Given the description of an element on the screen output the (x, y) to click on. 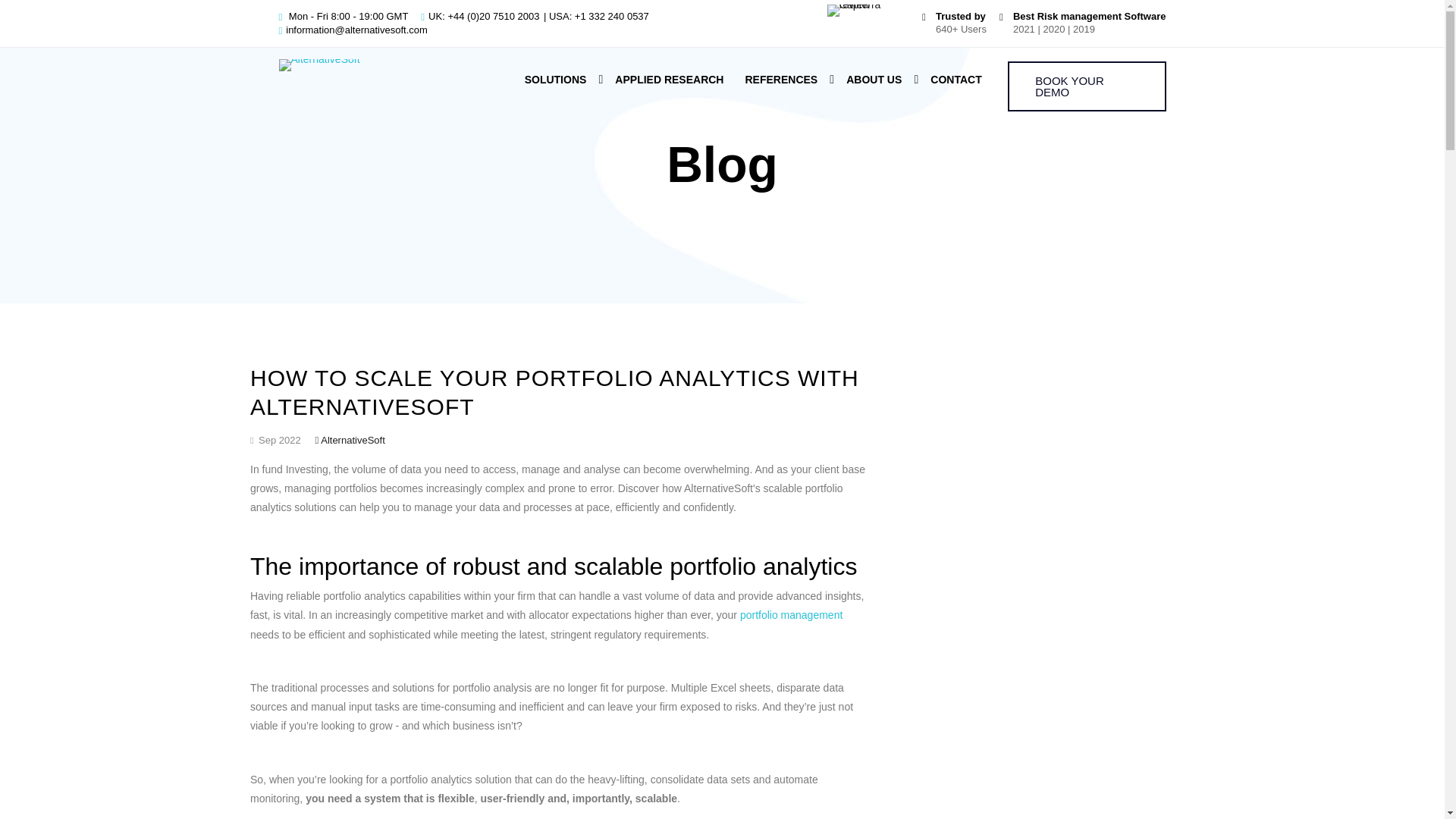
BOOK YOUR DEMO (1086, 86)
CONTACT (955, 80)
AlternativeSoft (319, 64)
SOLUTIONS (554, 80)
portfolio management (791, 614)
REFERENCES (780, 80)
Capterra review (867, 10)
Sep 2022 (275, 439)
ABOUT US (873, 80)
APPLIED RESEARCH (668, 80)
